Given the description of an element on the screen output the (x, y) to click on. 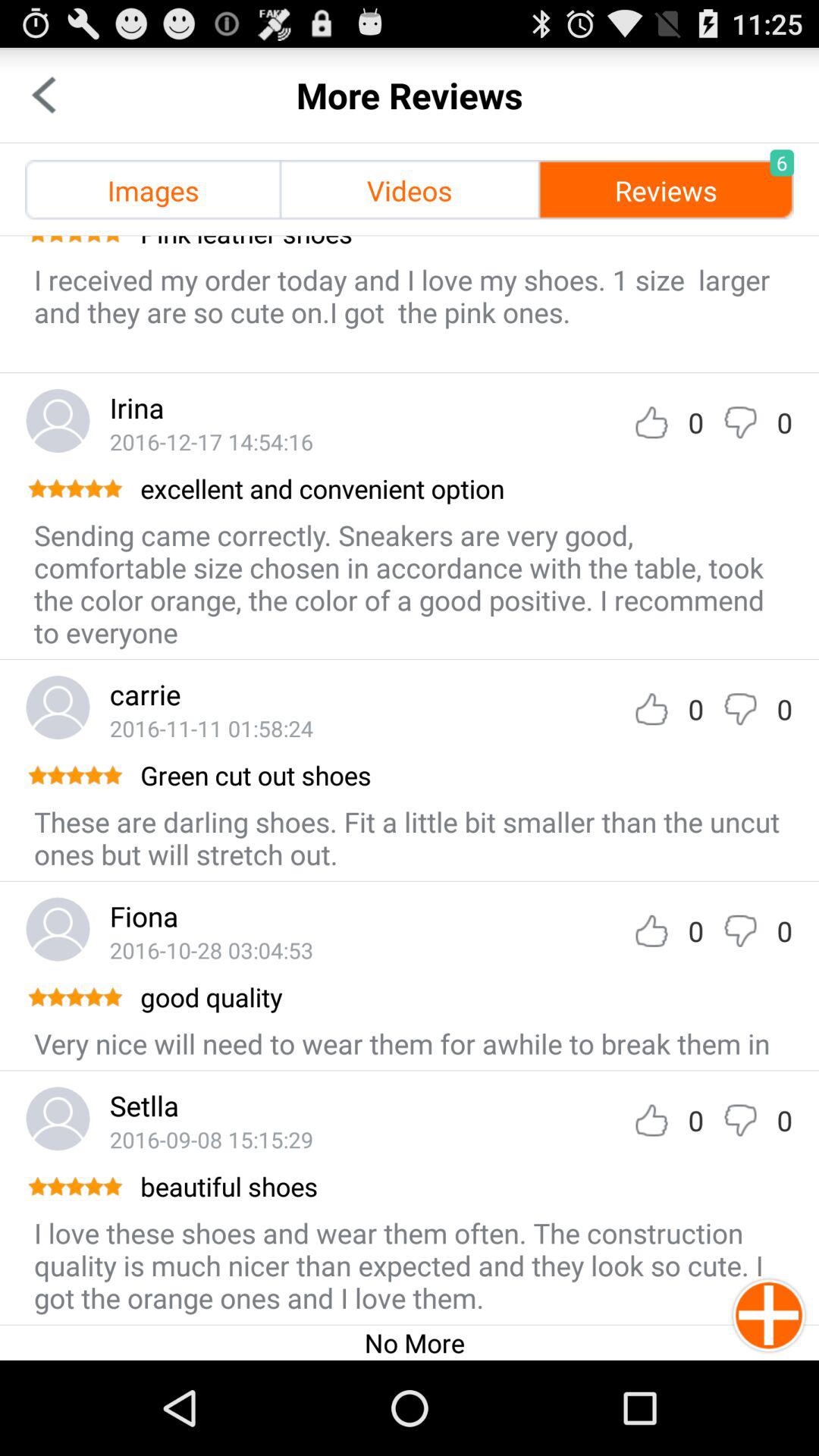
turn on icon above the good quality item (211, 950)
